Given the description of an element on the screen output the (x, y) to click on. 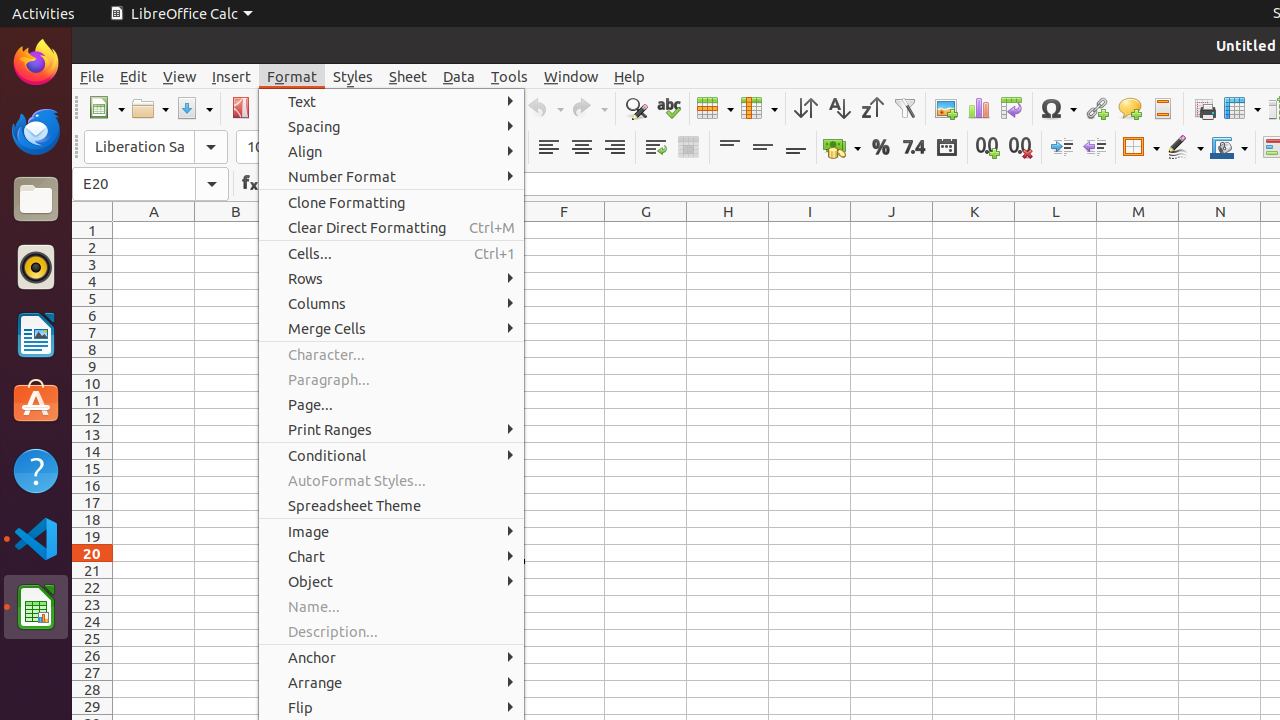
PDF Element type: push-button (240, 108)
Merge and Center Cells Element type: push-button (688, 147)
View Element type: menu (179, 76)
Hyperlink Element type: toggle-button (1096, 108)
Spreadsheet Theme Element type: menu-item (391, 505)
